Given the description of an element on the screen output the (x, y) to click on. 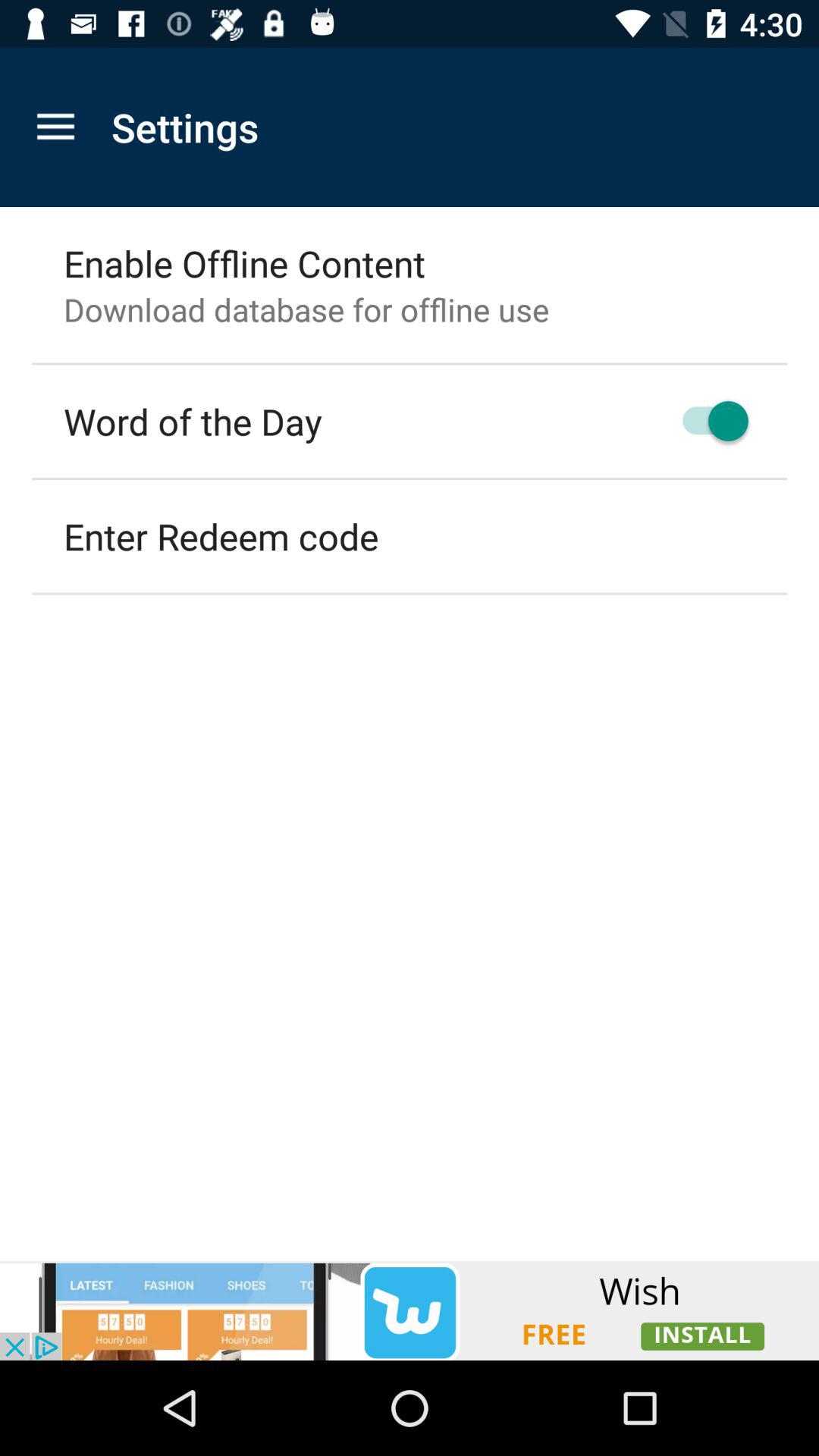
select advertisement (409, 1310)
